Given the description of an element on the screen output the (x, y) to click on. 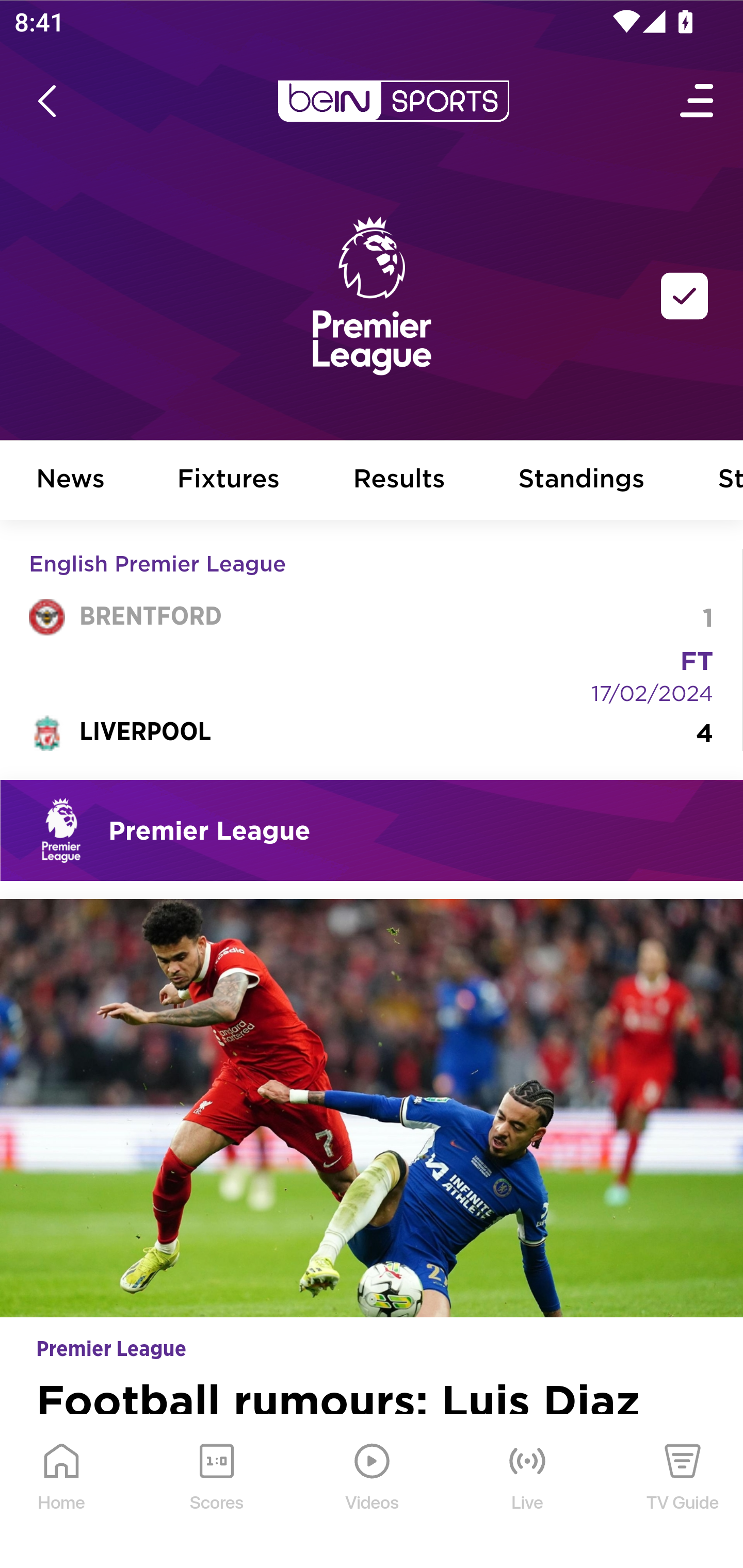
en-us?platform=mobile_android bein logo white (392, 101)
icon back (46, 101)
Open Menu Icon (697, 101)
News (70, 480)
Fixtures (229, 480)
Results (399, 480)
Standings (581, 480)
Home Home Icon Home (61, 1491)
Scores Scores Icon Scores (216, 1491)
Videos Videos Icon Videos (372, 1491)
TV Guide TV Guide Icon TV Guide (682, 1491)
